Given the description of an element on the screen output the (x, y) to click on. 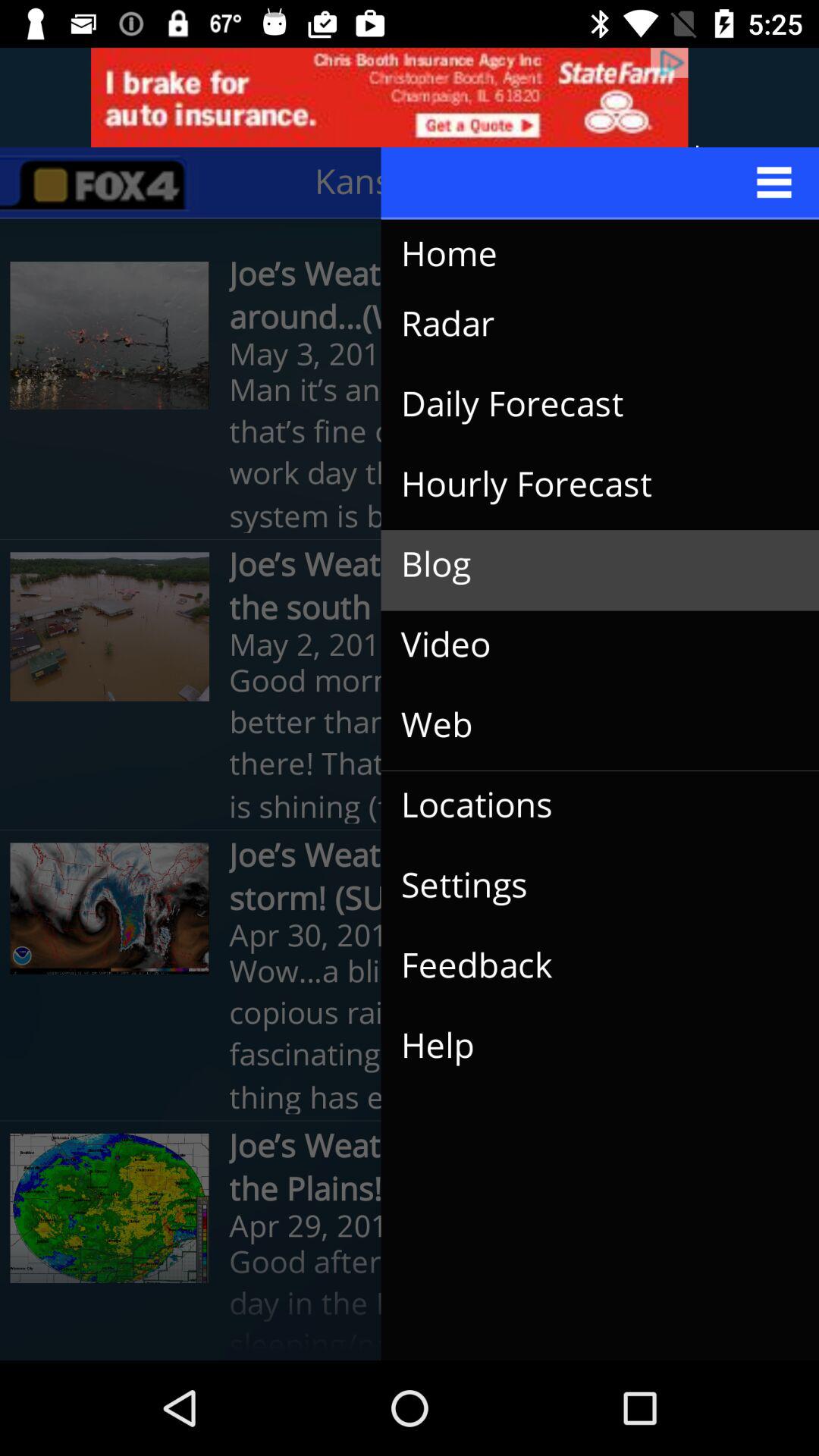
flip to web icon (587, 725)
